Given the description of an element on the screen output the (x, y) to click on. 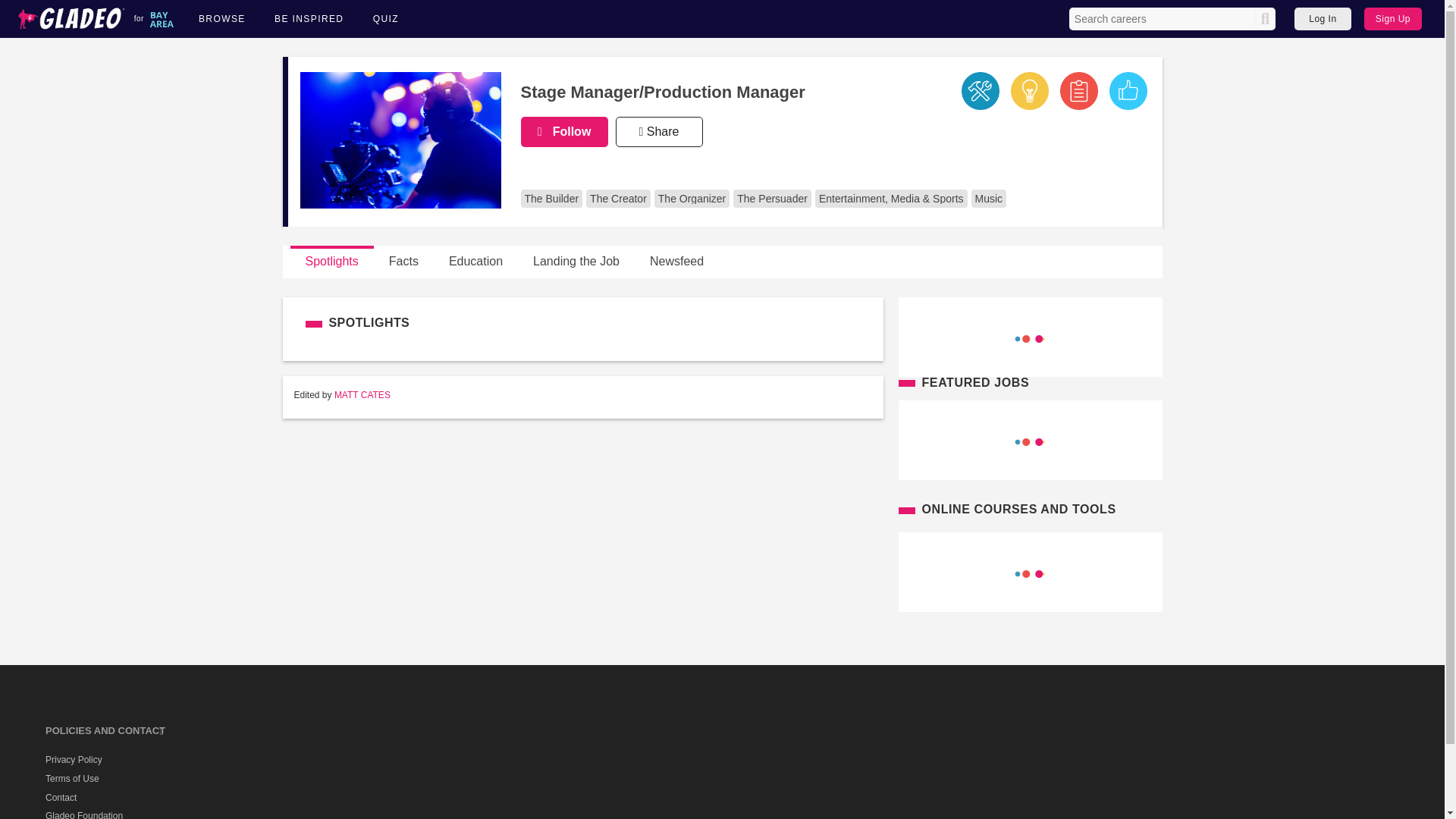
Sign Up (1393, 18)
Log In (1322, 18)
BE INSPIRED (309, 19)
BROWSE (222, 19)
Search (1265, 18)
Search Button (1265, 18)
for (93, 18)
Enter the terms you wish to search for (1163, 18)
QUIZ (385, 19)
Home (93, 18)
